Given the description of an element on the screen output the (x, y) to click on. 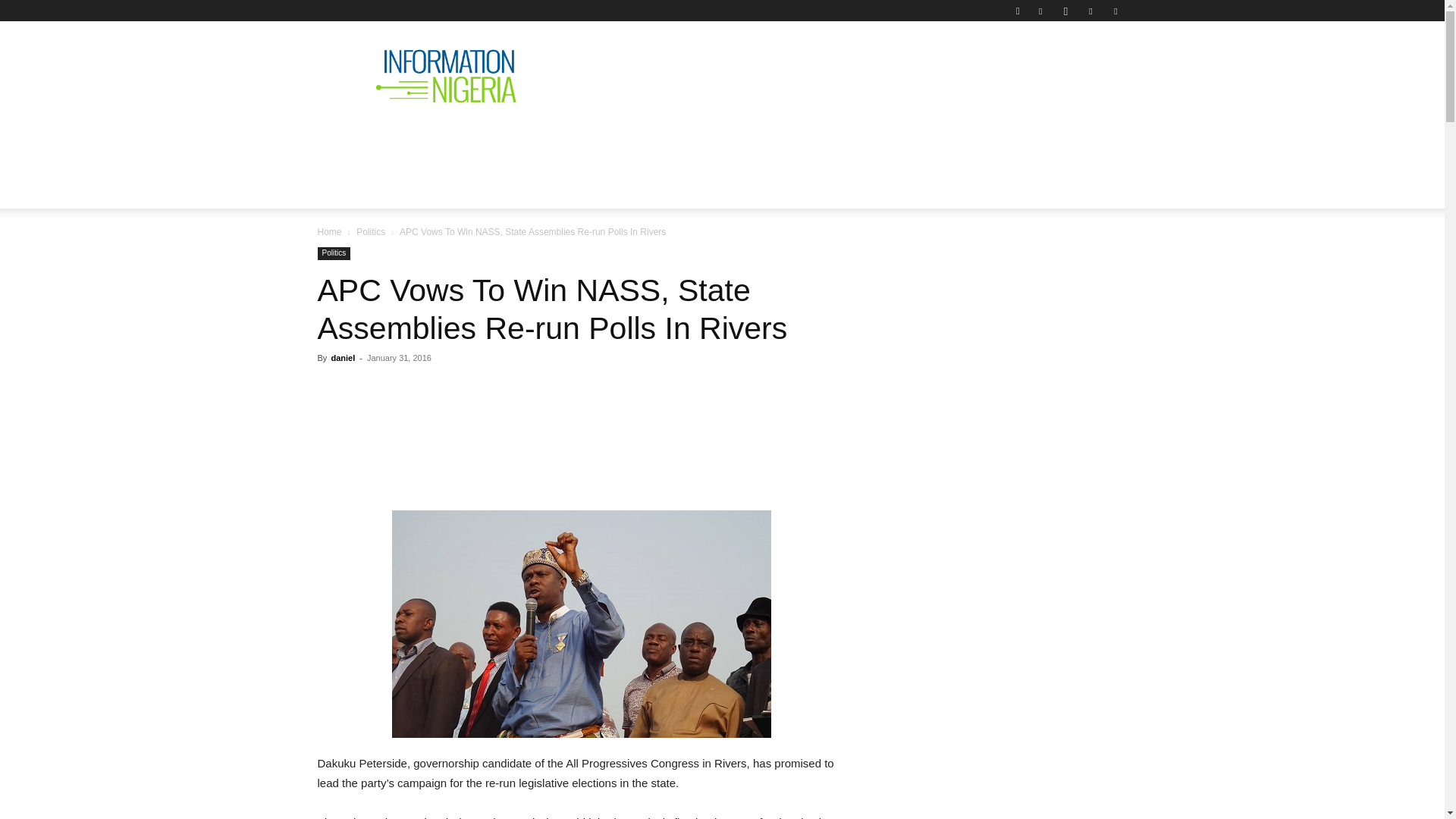
BBC PIDGIN (779, 139)
NATIONAL NEWS (444, 139)
POLITICS (551, 139)
Facebook (1040, 10)
SPECIAL REPORTS (660, 139)
HOME (347, 139)
Nigeria News, Nigerian Newspaper (446, 76)
Youtube (1114, 10)
Twitter (1090, 10)
Search (1085, 64)
METRO NEWS (884, 139)
SPORTS (974, 139)
Instagram (1065, 10)
View all posts in Politics (370, 231)
